Given the description of an element on the screen output the (x, y) to click on. 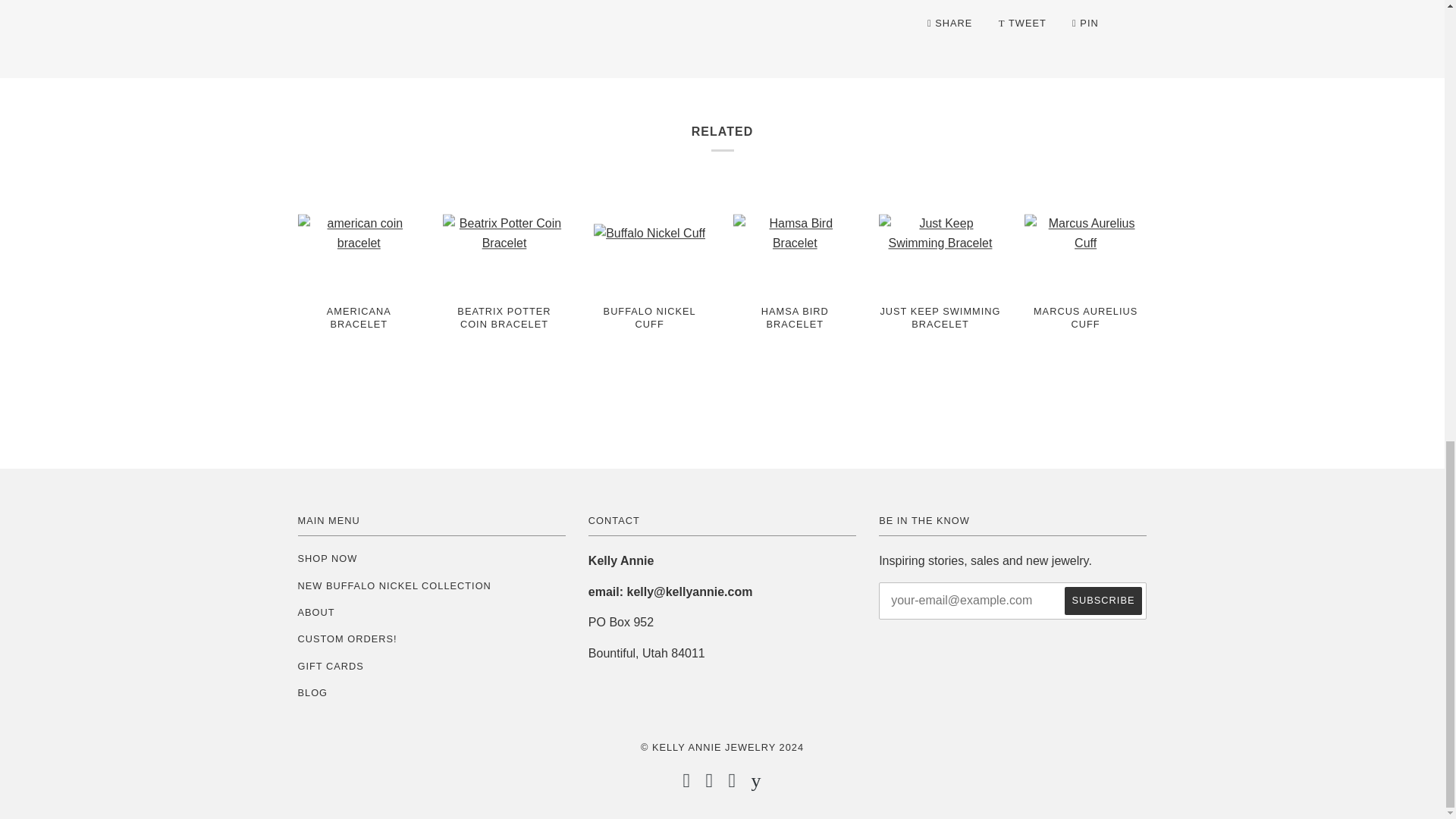
SHOP NOW (326, 558)
BEATRIX POTTER COIN BRACELET (504, 331)
Kelly Annie Jewelry on Youtube (756, 783)
HAMSA BIRD BRACELET (794, 331)
BUFFALO NICKEL CUFF (649, 331)
SHARE (951, 22)
TWEET (1023, 22)
Subscribe (1103, 601)
AMERICANA BRACELET (358, 331)
PIN (1085, 22)
JUST KEEP SWIMMING BRACELET (940, 331)
MARCUS AURELIUS CUFF (1086, 341)
